Given the description of an element on the screen output the (x, y) to click on. 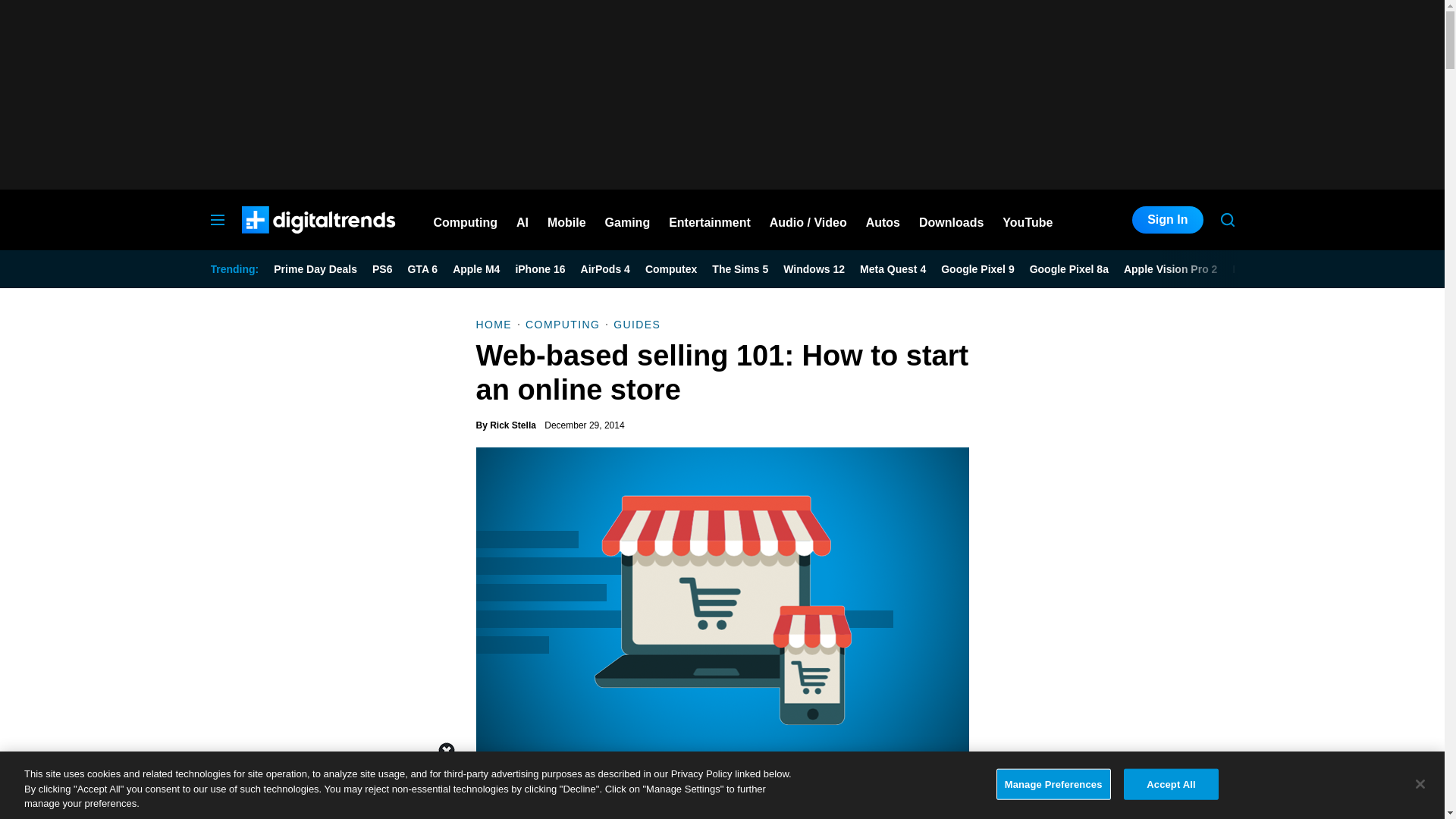
Downloads (951, 219)
3rd party ad content (721, 785)
3rd party ad content (1120, 674)
Mobile (566, 219)
Gaming (627, 219)
AI (522, 219)
Computing (465, 219)
YouTube (1027, 219)
Sign In (1167, 219)
Entertainment (709, 219)
Autos (882, 219)
